Given the description of an element on the screen output the (x, y) to click on. 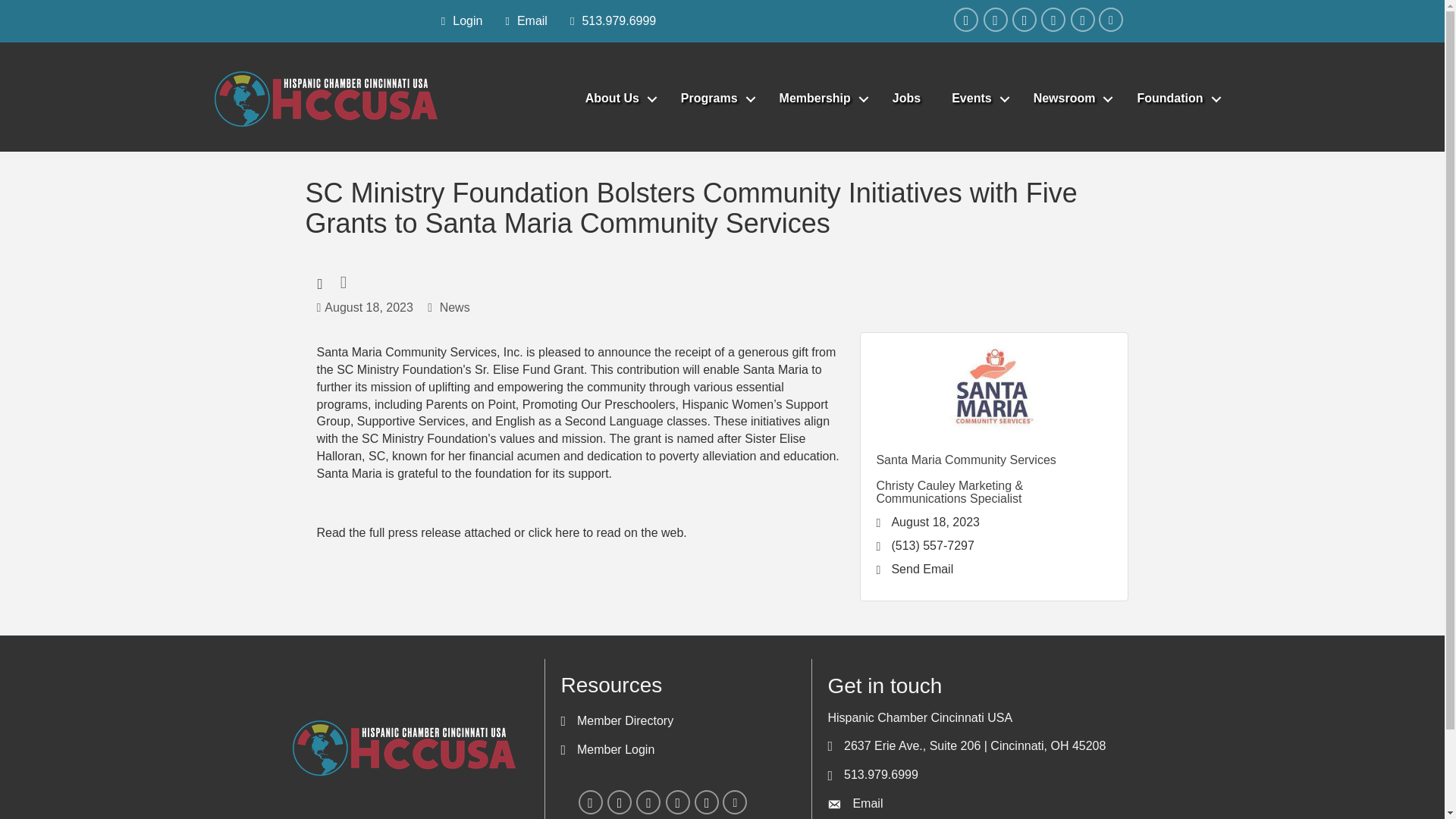
NEW HCCUSA LOGO-1-01 (402, 747)
Login (458, 21)
Events (976, 98)
Newsroom (1069, 98)
Membership (820, 98)
Email (522, 21)
NEW HCCUSA LOGO-1-01 (325, 98)
Programs (713, 98)
513.979.6999 (609, 21)
Jobs (906, 98)
About Us (617, 98)
